Given the description of an element on the screen output the (x, y) to click on. 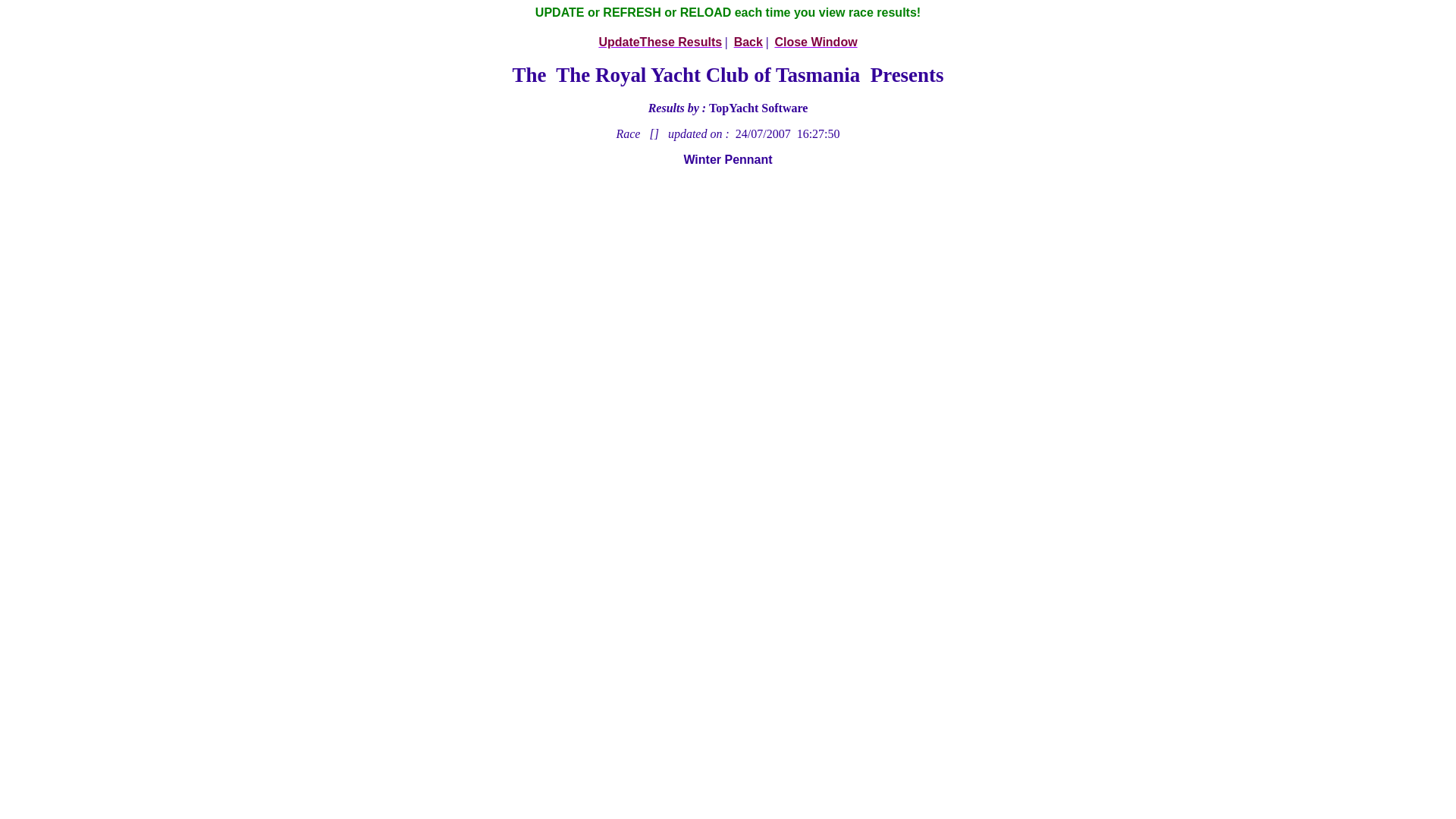
Back Element type: text (748, 41)
Close Window Element type: text (815, 41)
UpdateThese Results Element type: text (659, 41)
